Given the description of an element on the screen output the (x, y) to click on. 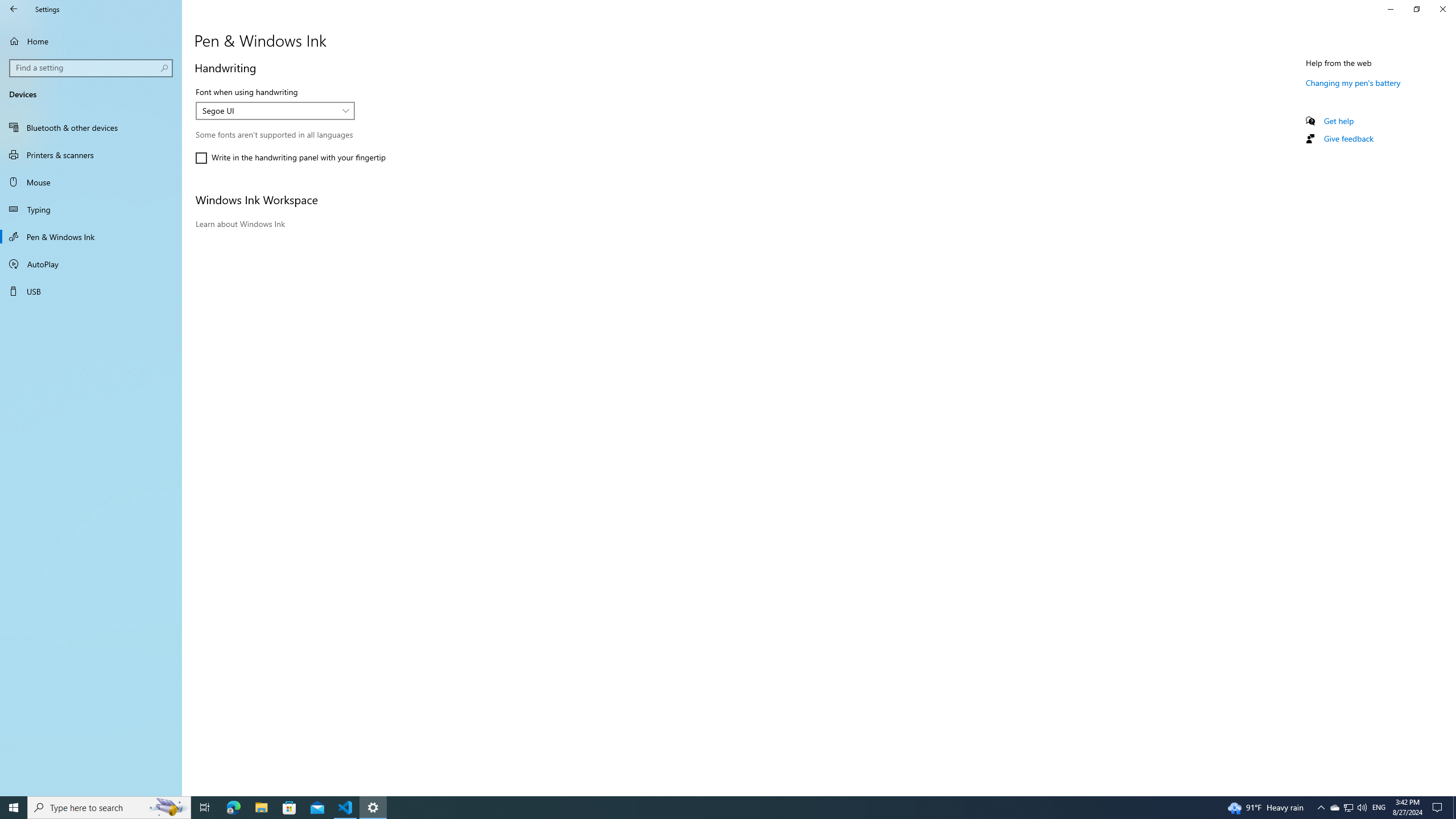
Typing (91, 208)
Write in the handwriting panel with your fingertip (290, 158)
AutoPlay (91, 263)
